Given the description of an element on the screen output the (x, y) to click on. 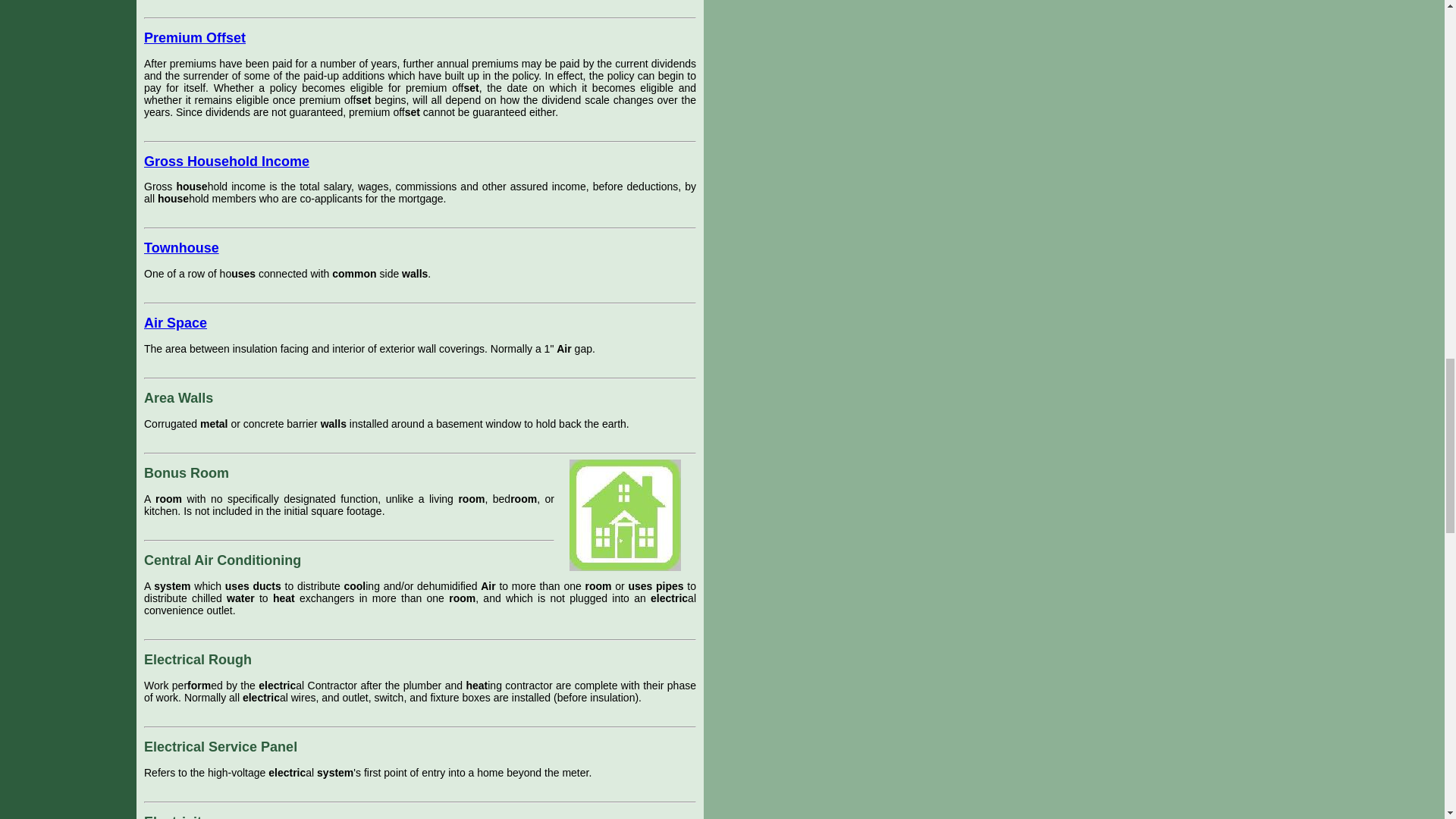
Premium Offset (195, 37)
Gross Household Income (226, 160)
Air Space (175, 322)
Townhouse (181, 247)
